Given the description of an element on the screen output the (x, y) to click on. 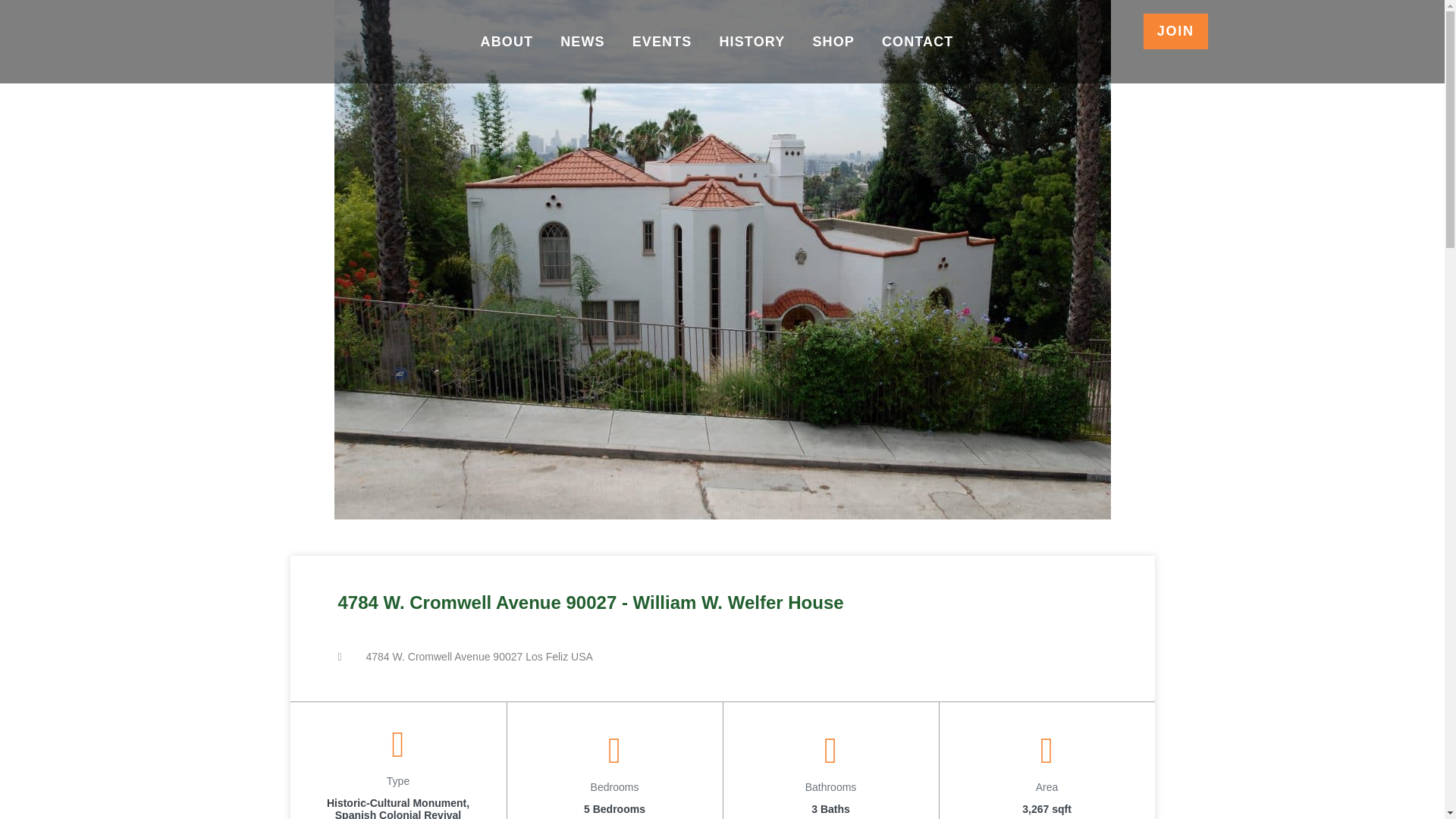
ABOUT (507, 41)
HISTORY (751, 41)
NEWS (582, 41)
CONTACT (917, 41)
EVENTS (661, 41)
JOIN (1175, 31)
